Given the description of an element on the screen output the (x, y) to click on. 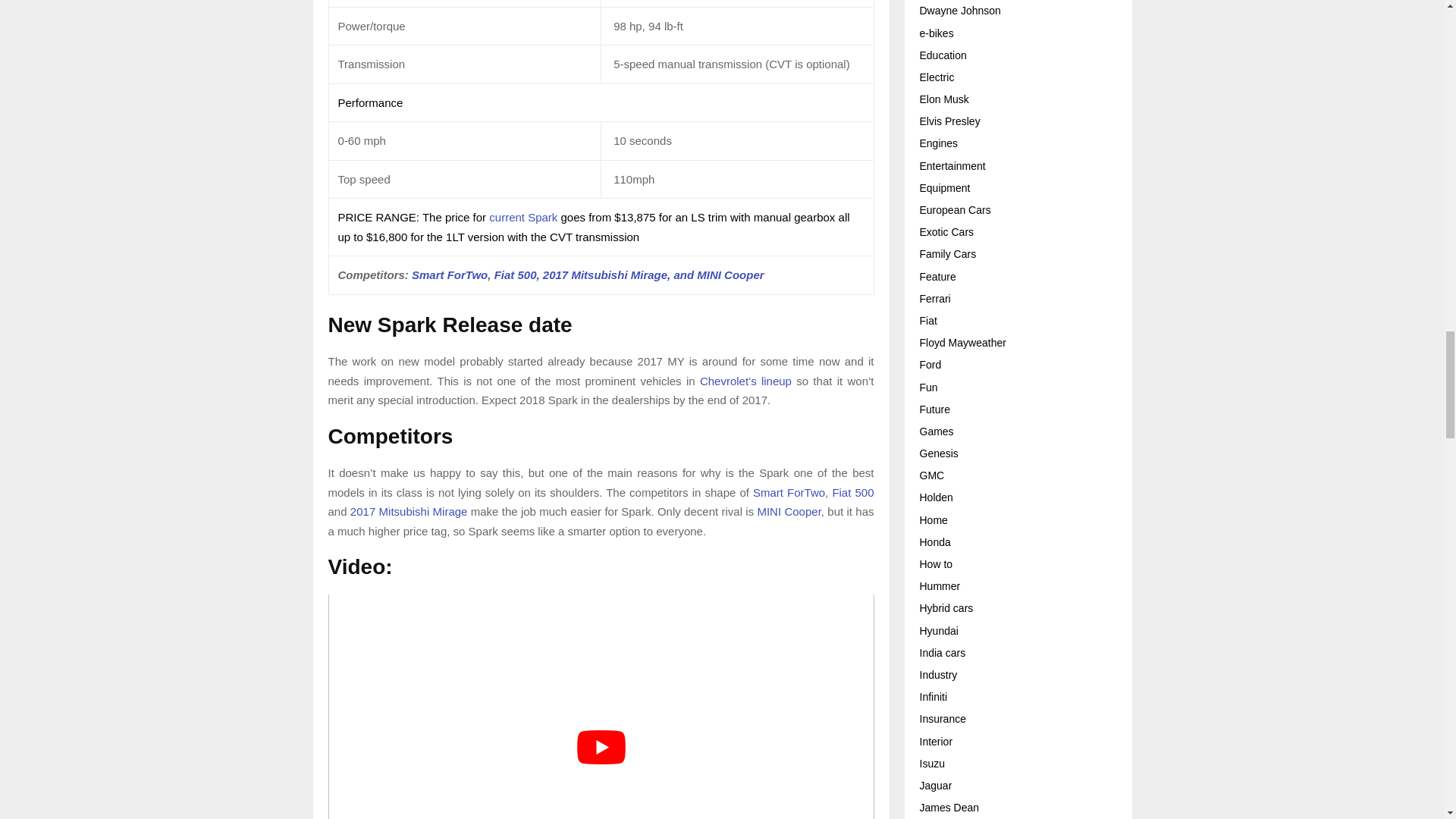
MINI Cooper (729, 274)
2017 Mitsubishi Mirage, and (620, 274)
Fiat 500, (517, 274)
MINI Cooper (789, 511)
Smart ForTwo (788, 492)
Fiat 500 (852, 492)
Smart ForTwo (449, 274)
2017 Mitsubishi Mirage (408, 511)
current Spark (523, 216)
